Given the description of an element on the screen output the (x, y) to click on. 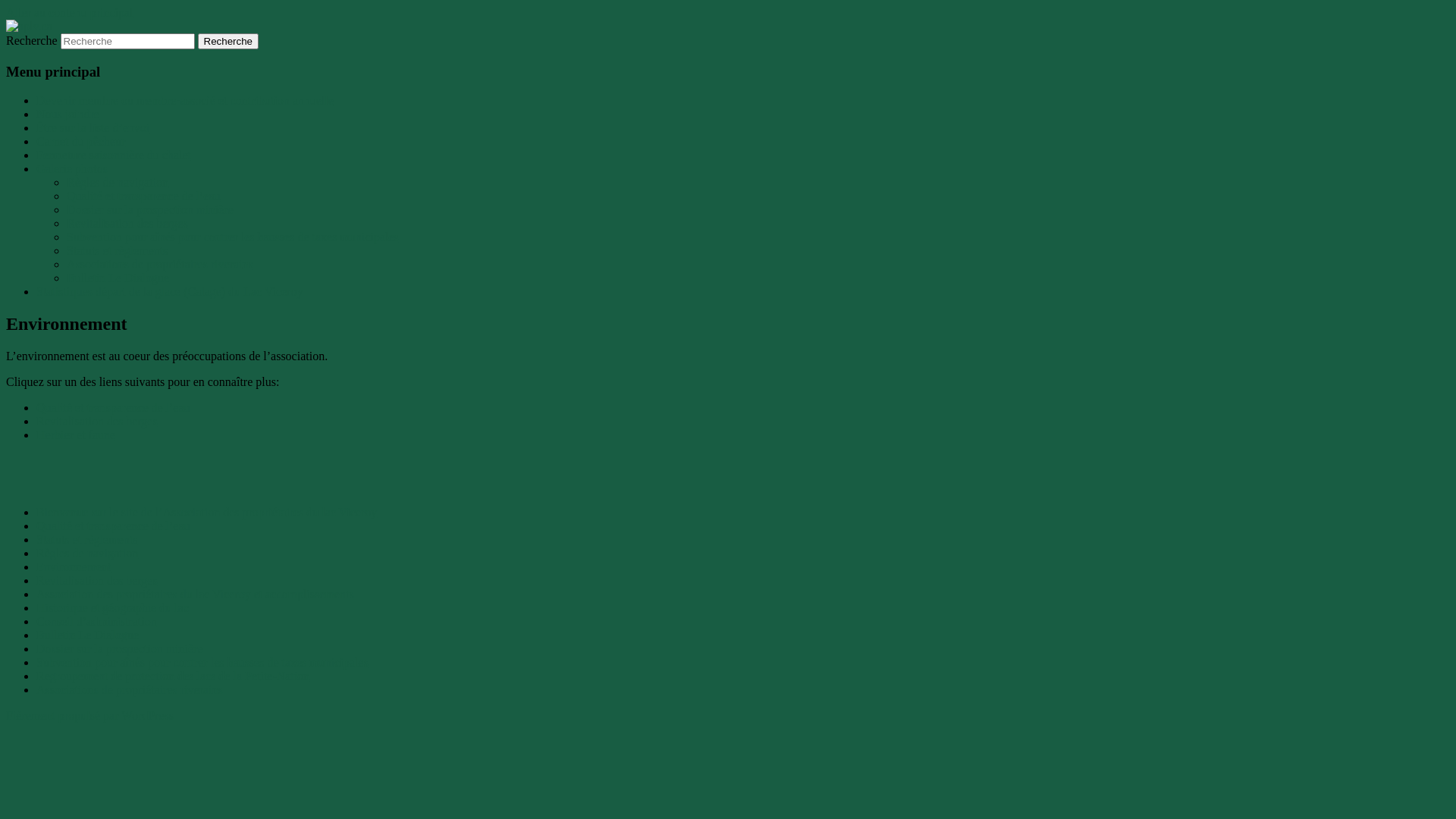
Revitalisation des berges Element type: text (96, 420)
Aller au contenu principal Element type: text (69, 12)
Revitalisation des berges Element type: text (96, 580)
aplv.ca Element type: text (42, 48)
Galerie photos Element type: text (71, 168)
Recherche Element type: text (227, 41)
Herbier et faune Element type: text (75, 434)
Bulletin Le Dialogue Element type: text (117, 277)
Environnement Element type: text (73, 566)
Nous joindre Element type: text (67, 113)
Regroupement de protection des lacs de la Petite-Nation Element type: text (172, 675)
Bulletin Le Dialogue Element type: text (87, 634)
Revitalisation des berges Element type: text (127, 222)
